Given the description of an element on the screen output the (x, y) to click on. 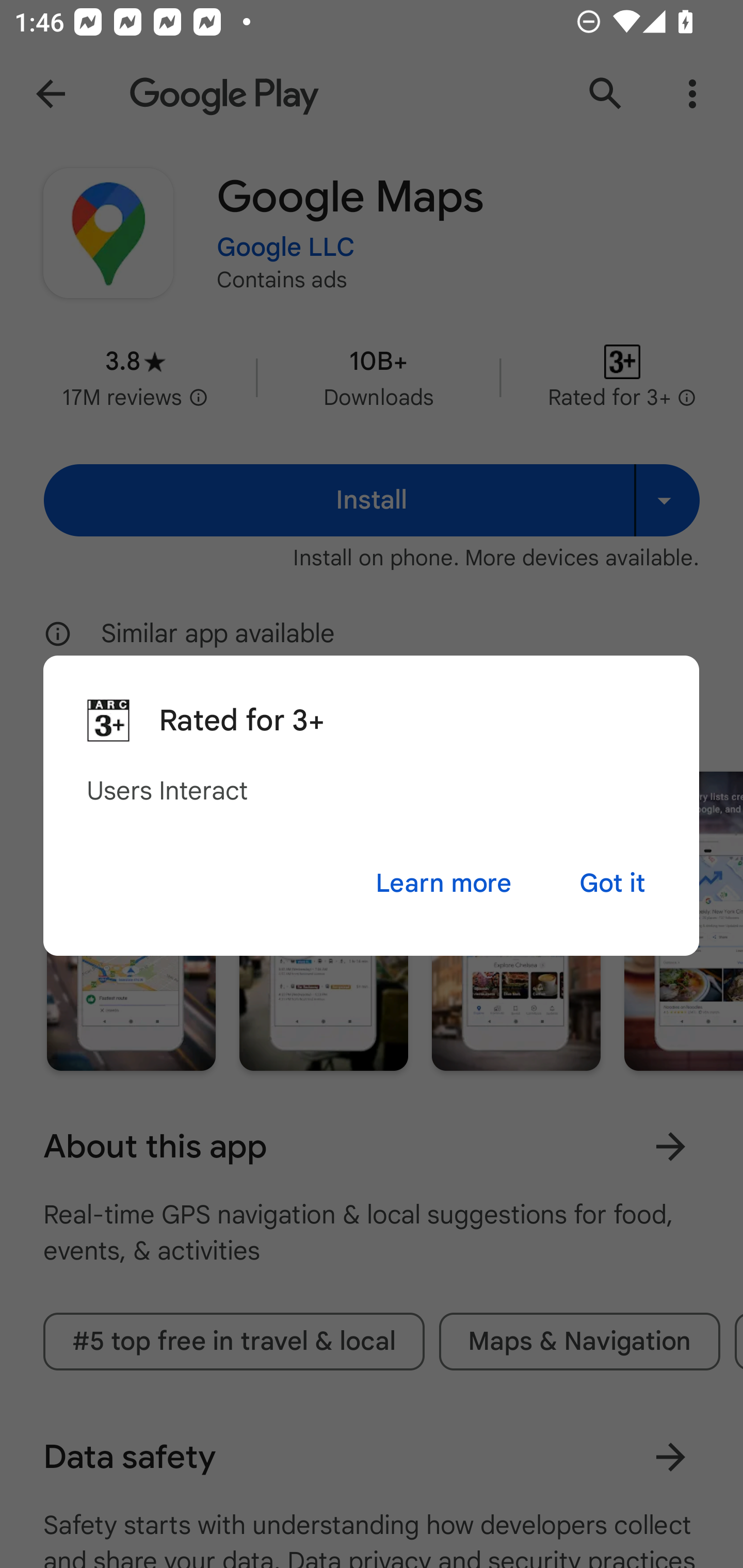
Learn more (443, 883)
Got it (612, 883)
